Given the description of an element on the screen output the (x, y) to click on. 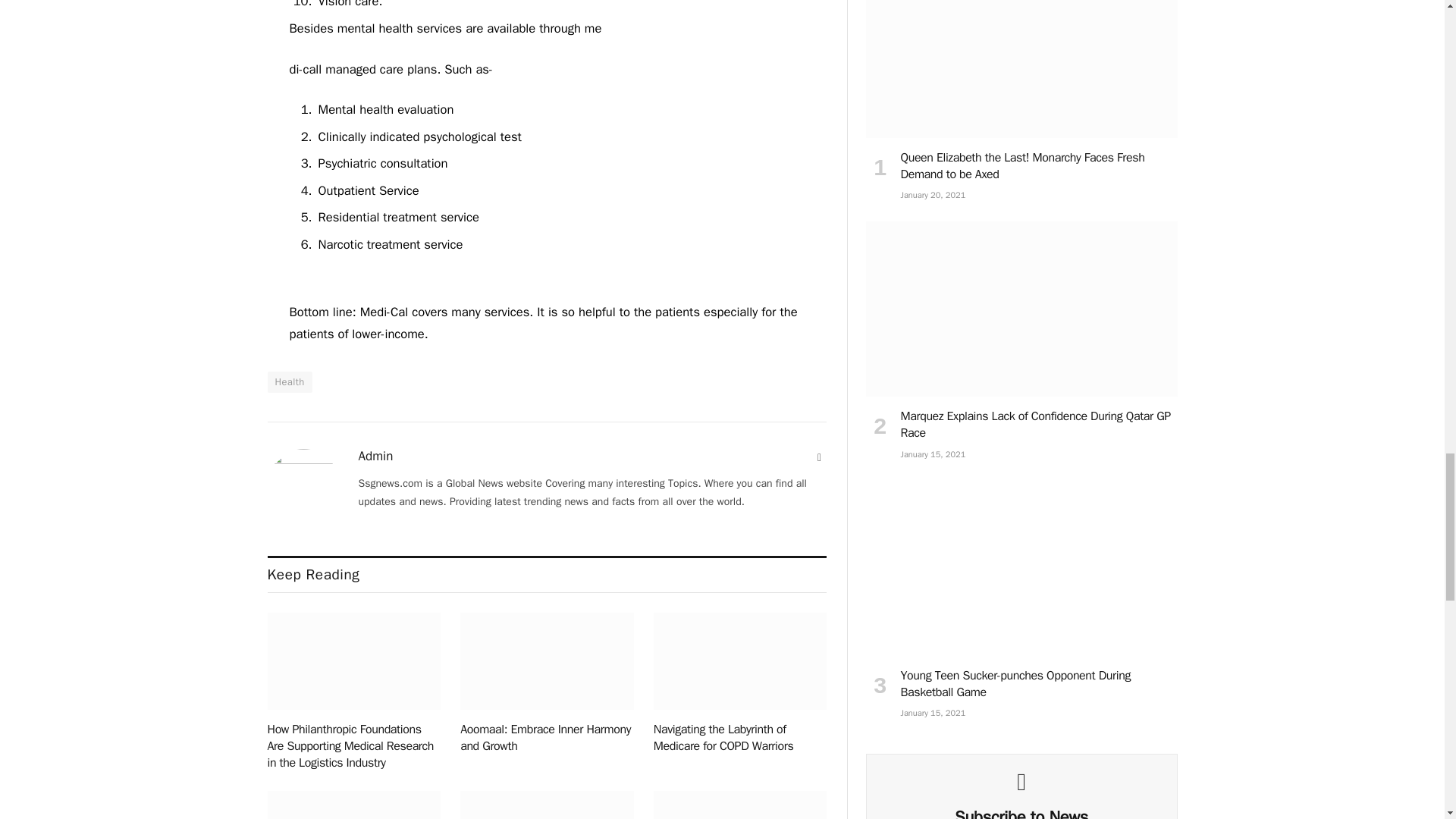
Posts by Admin (375, 456)
Aoomaal: Embrace Inner Harmony and Growth (546, 661)
Website (818, 458)
Navigating the Labyrinth of Medicare for COPD Warriors (740, 661)
Hi-Tech Pharmaceuticals Acquires Nittany Pharmaceuticals (353, 805)
